Given the description of an element on the screen output the (x, y) to click on. 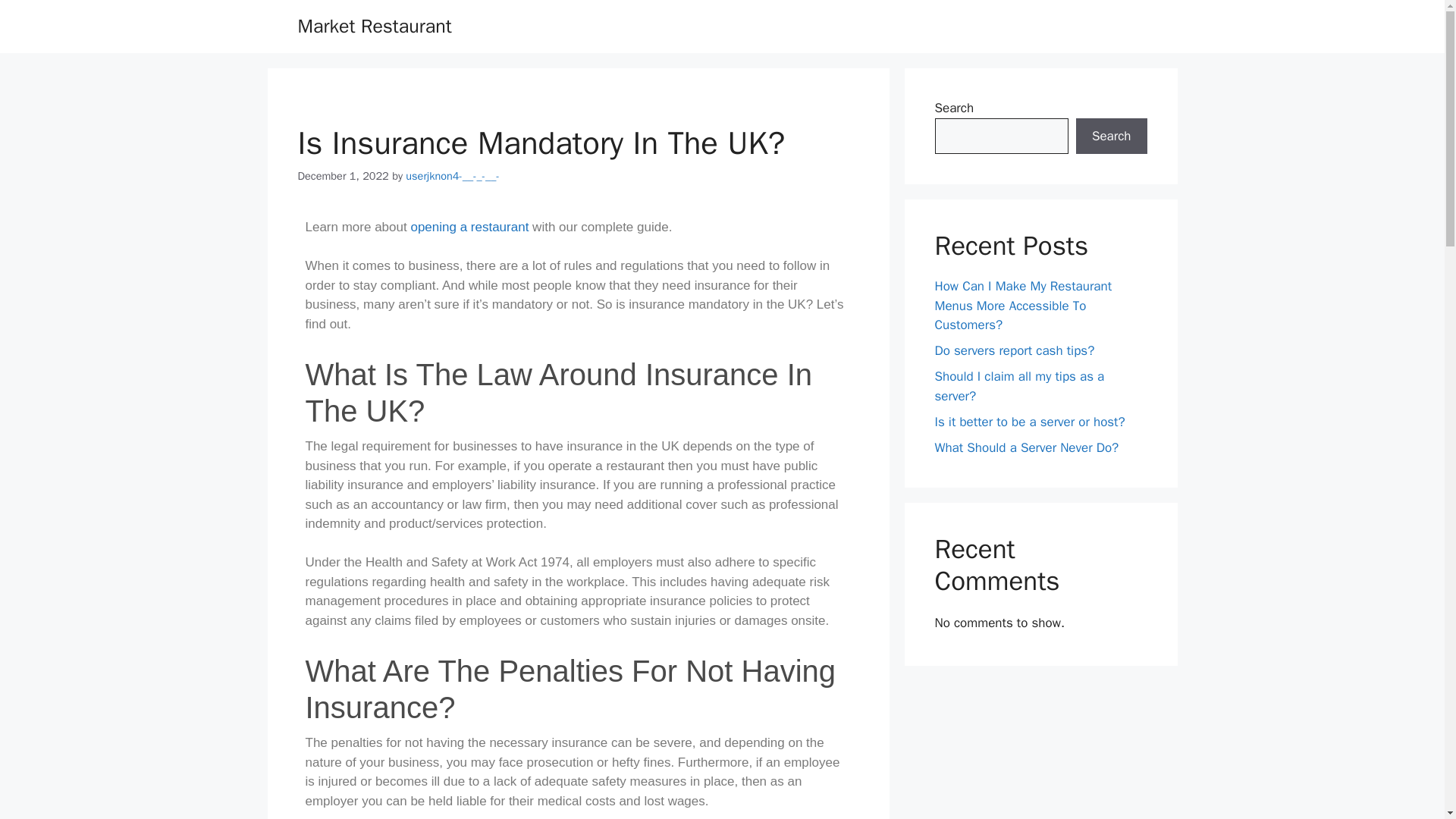
Search (1111, 135)
Should I claim all my tips as a server? (1018, 386)
What Should a Server Never Do? (1026, 447)
Market Restaurant (374, 25)
Is it better to be a server or host? (1029, 421)
Do servers report cash tips? (1014, 350)
opening a restaurant (469, 227)
